Given the description of an element on the screen output the (x, y) to click on. 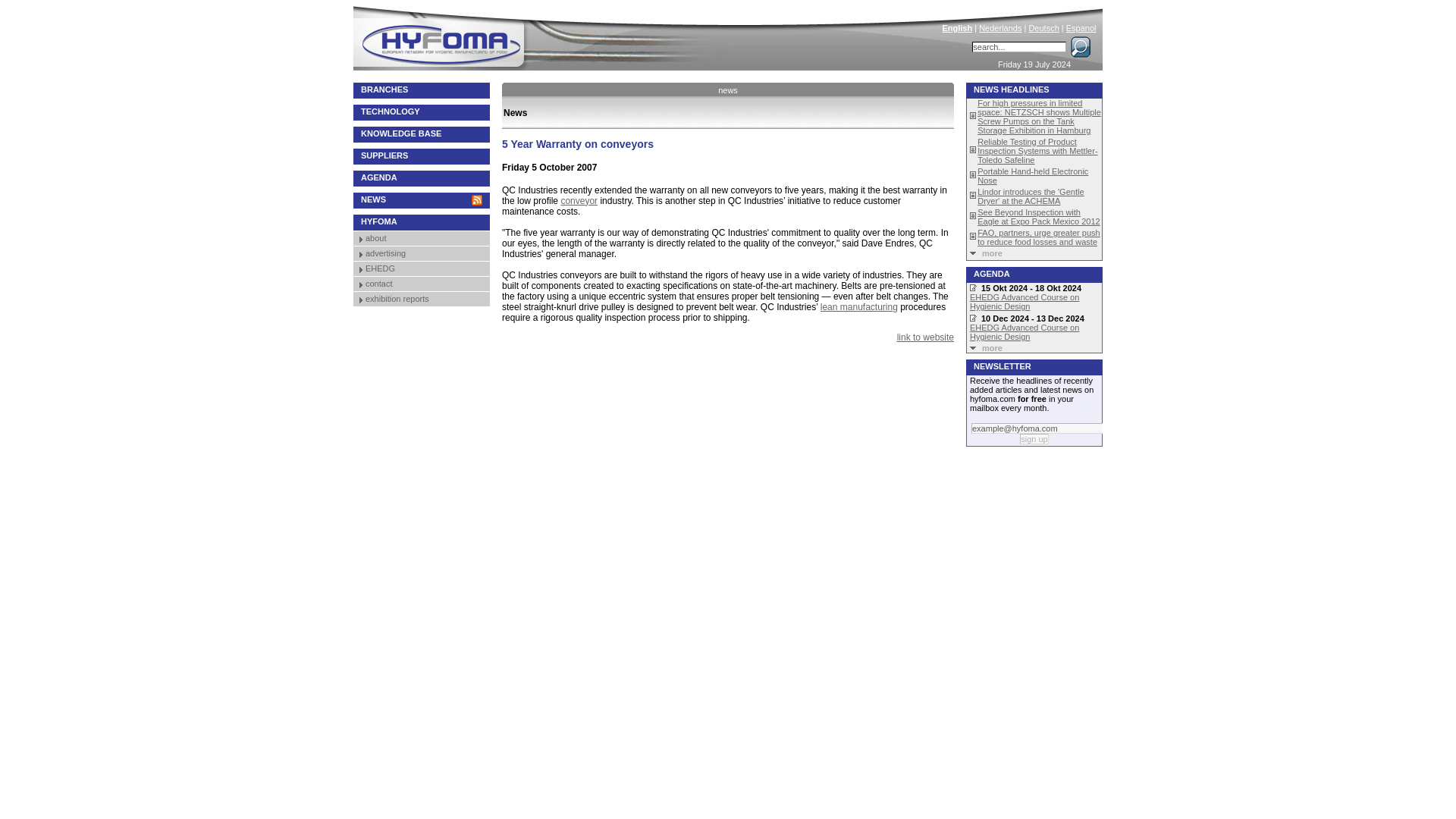
sign up (1034, 439)
search... (1018, 46)
Nederlands (1000, 27)
link to website (924, 337)
Agenda EHEDG Advanced Course on Hygienic Design (1023, 331)
TECHNOLOGY (421, 112)
Agenda EHEDG Advanced Course on Hygienic Design (1023, 301)
KNOWLEDGE BASE (421, 134)
Espanol (1080, 27)
news about Portable Hand-held Electronic Nose (1031, 176)
BRANCHES (421, 90)
lean manufacturing (859, 307)
Deutsch (1042, 27)
